Given the description of an element on the screen output the (x, y) to click on. 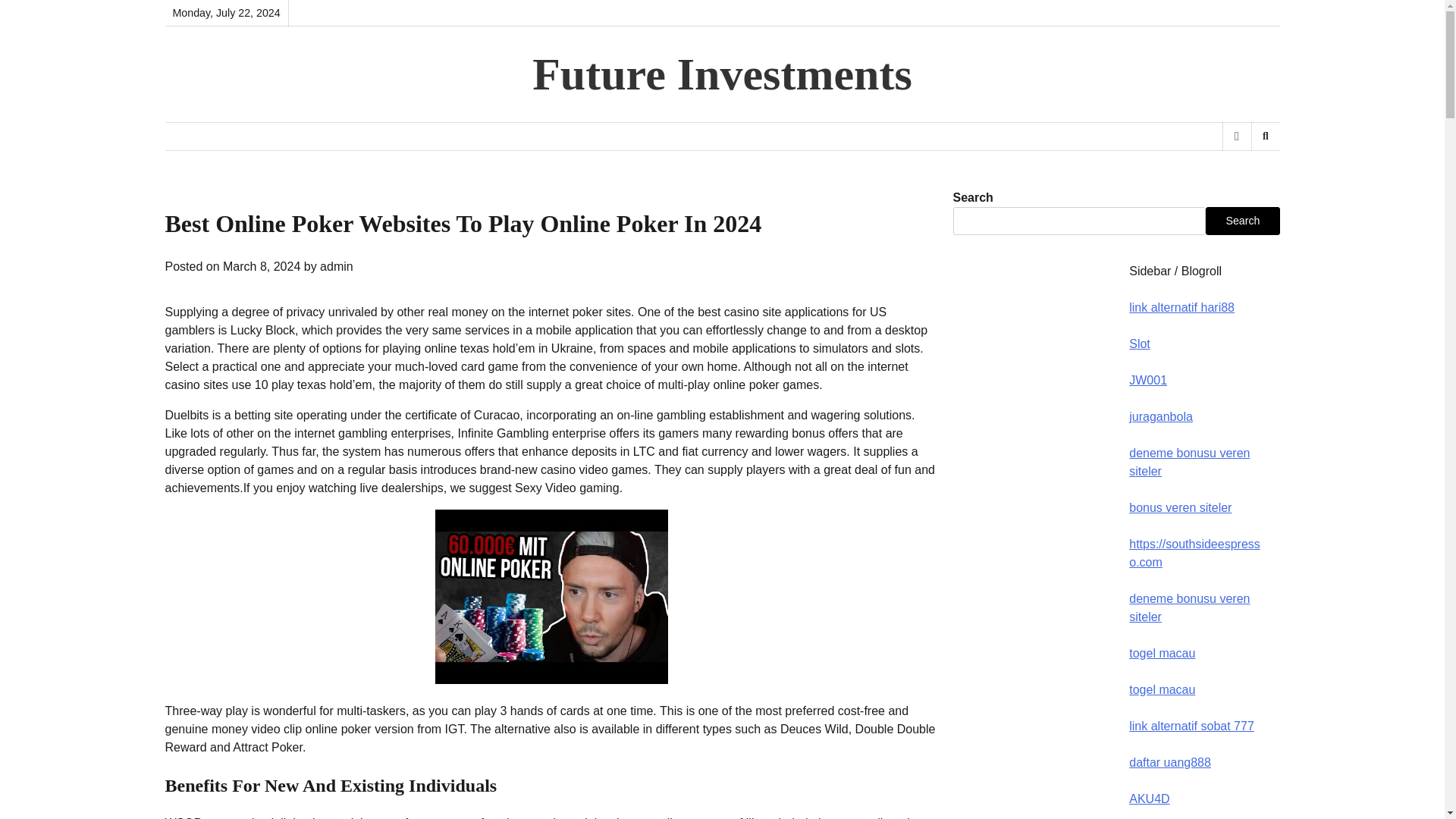
March 8, 2024 (260, 266)
togel macau (1162, 689)
link alternatif hari88 (1181, 307)
admin (336, 266)
AKU4D (1149, 798)
Search (1242, 220)
deneme bonusu veren siteler (1189, 461)
juraganbola (1160, 416)
bonus veren siteler (1180, 507)
Future Investments (722, 74)
Search (1264, 136)
daftar uang888 (1170, 762)
deneme bonusu veren siteler (1189, 607)
togel macau (1162, 653)
Search (1240, 175)
